Given the description of an element on the screen output the (x, y) to click on. 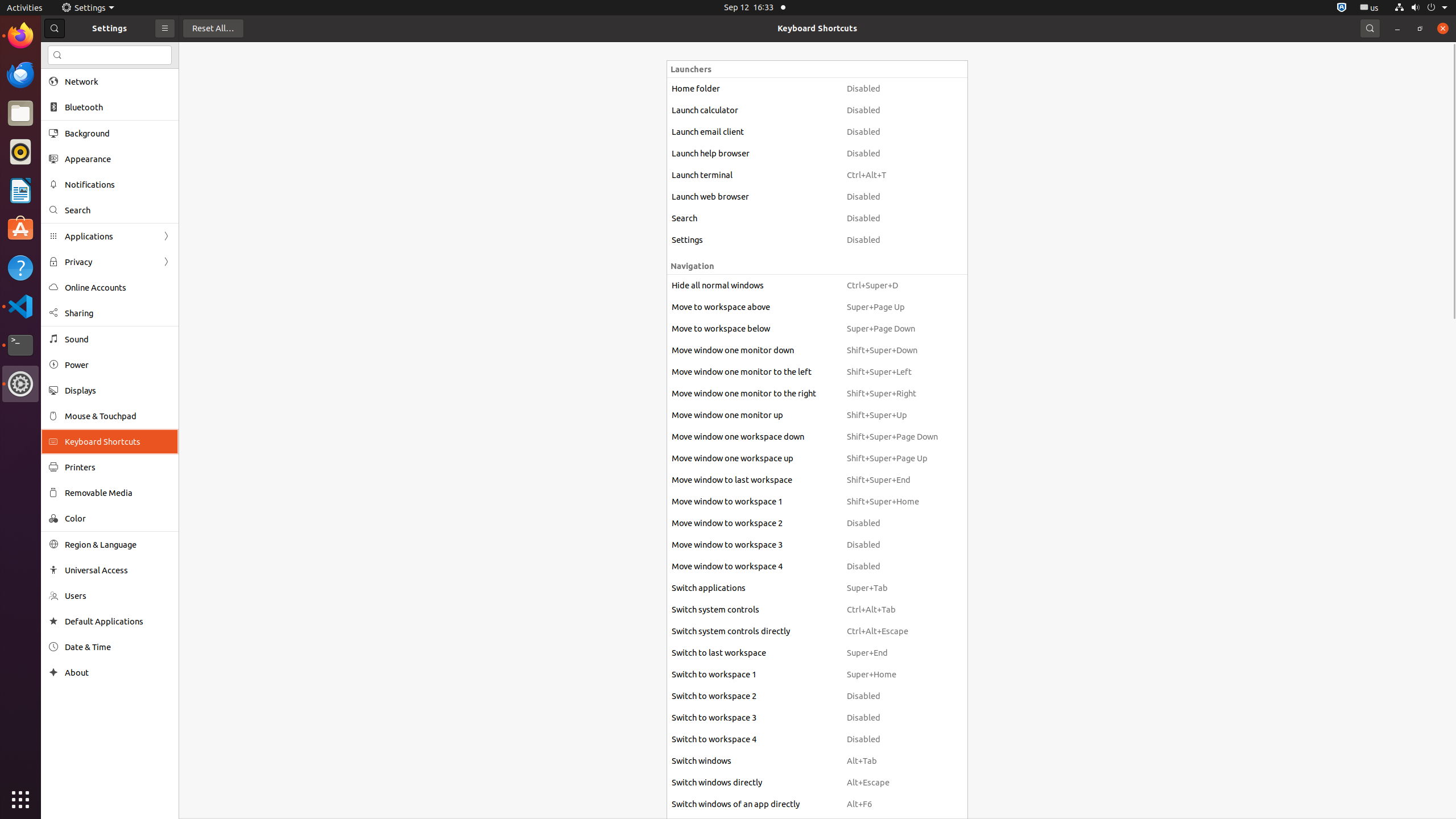
Date & Time Element type: label (117, 646)
Switch windows directly Element type: label (753, 782)
Privacy Element type: label (109, 261)
Switch to last workspace Element type: label (753, 652)
Sharing Element type: label (117, 312)
